Given the description of an element on the screen output the (x, y) to click on. 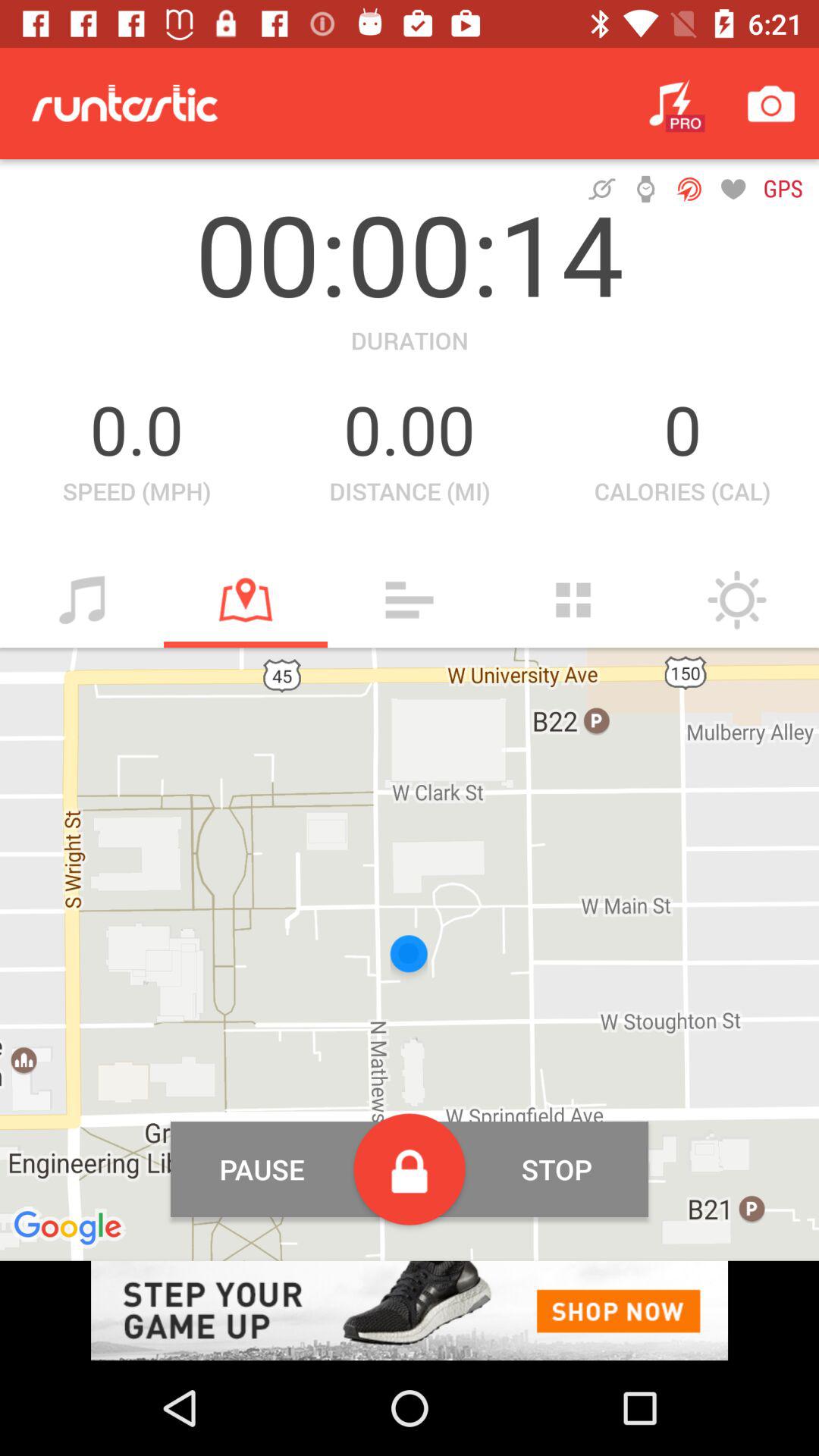
open menu (409, 599)
